Given the description of an element on the screen output the (x, y) to click on. 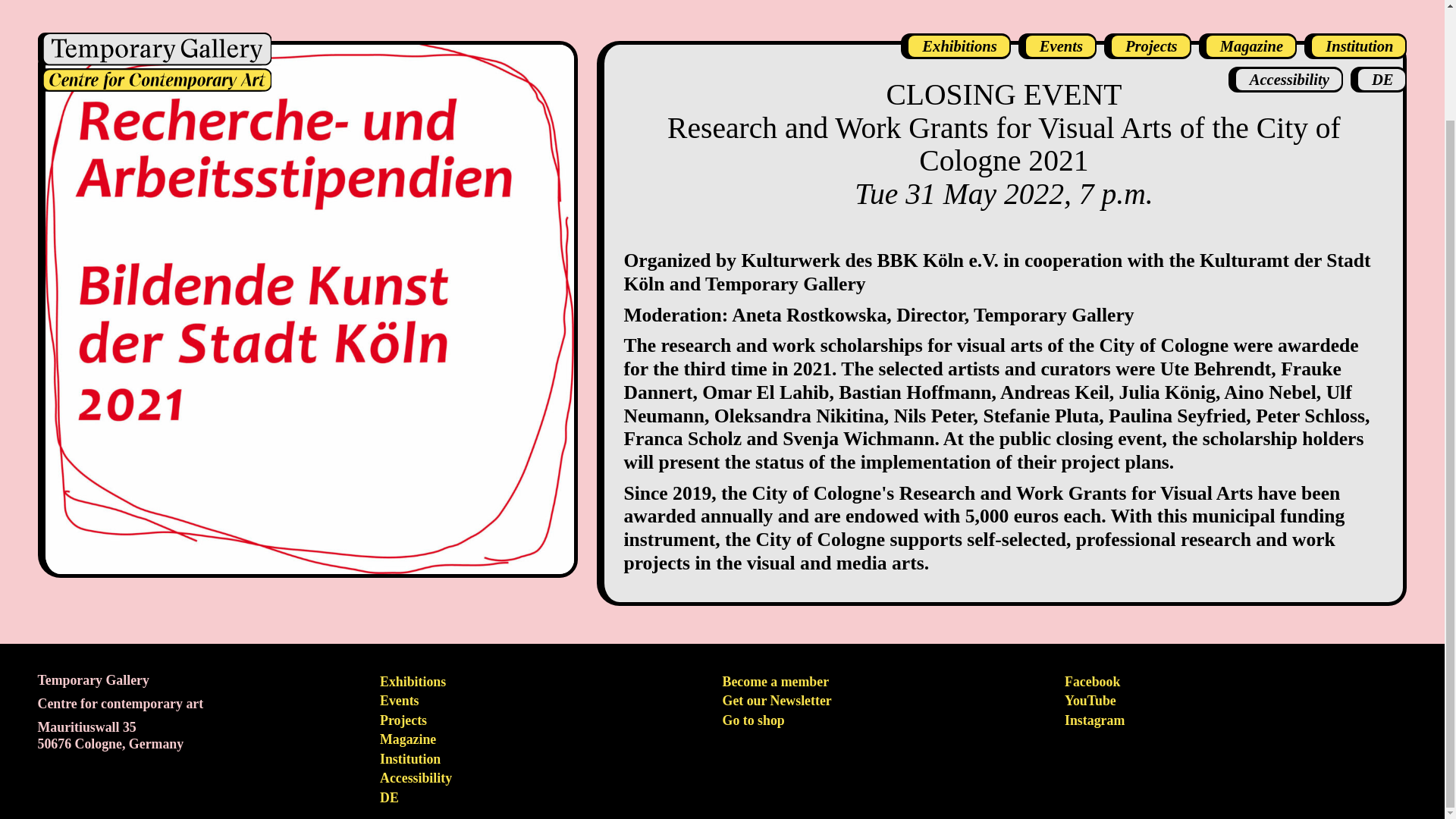
Institution (410, 758)
Go to shop (753, 720)
YouTube (1090, 700)
Exhibitions (412, 681)
Magazine (407, 739)
Accessibility (415, 777)
Become a member (775, 681)
DE (389, 797)
Instagram (1094, 720)
Get our Newsletter (776, 700)
